Given the description of an element on the screen output the (x, y) to click on. 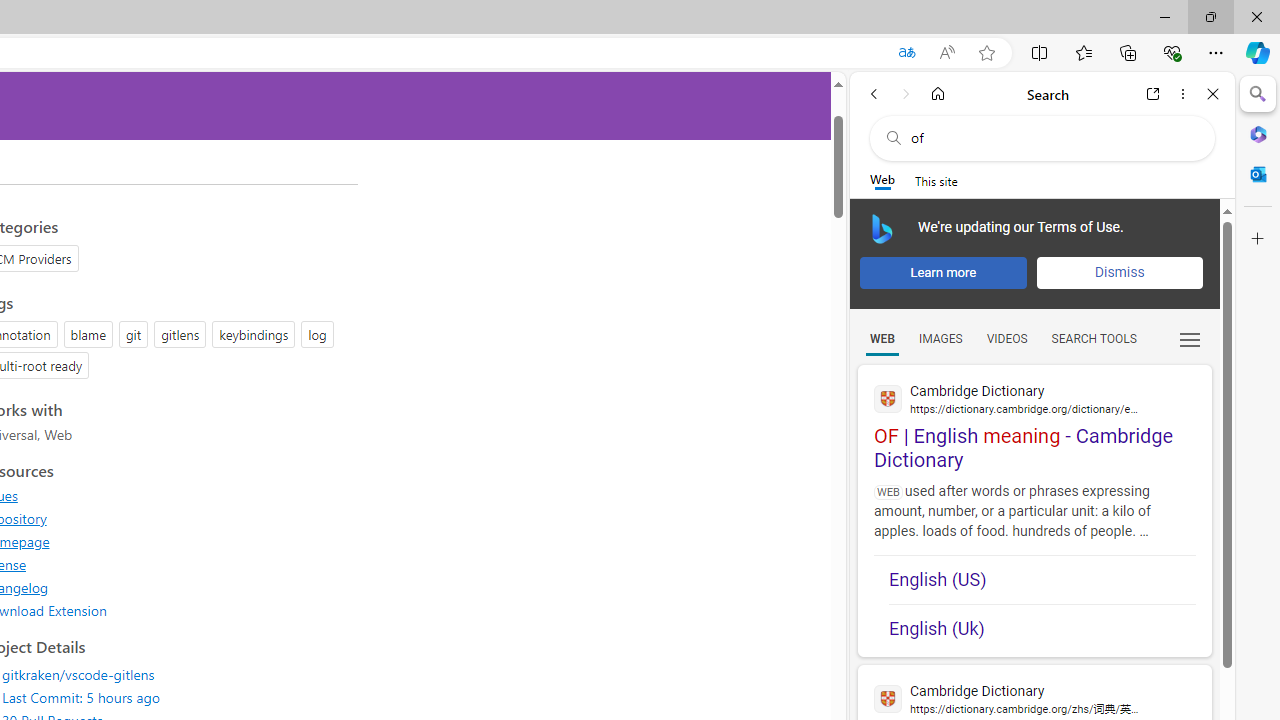
English (US) (1042, 579)
Learn more (943, 272)
English (US) (1042, 579)
